Given the description of an element on the screen output the (x, y) to click on. 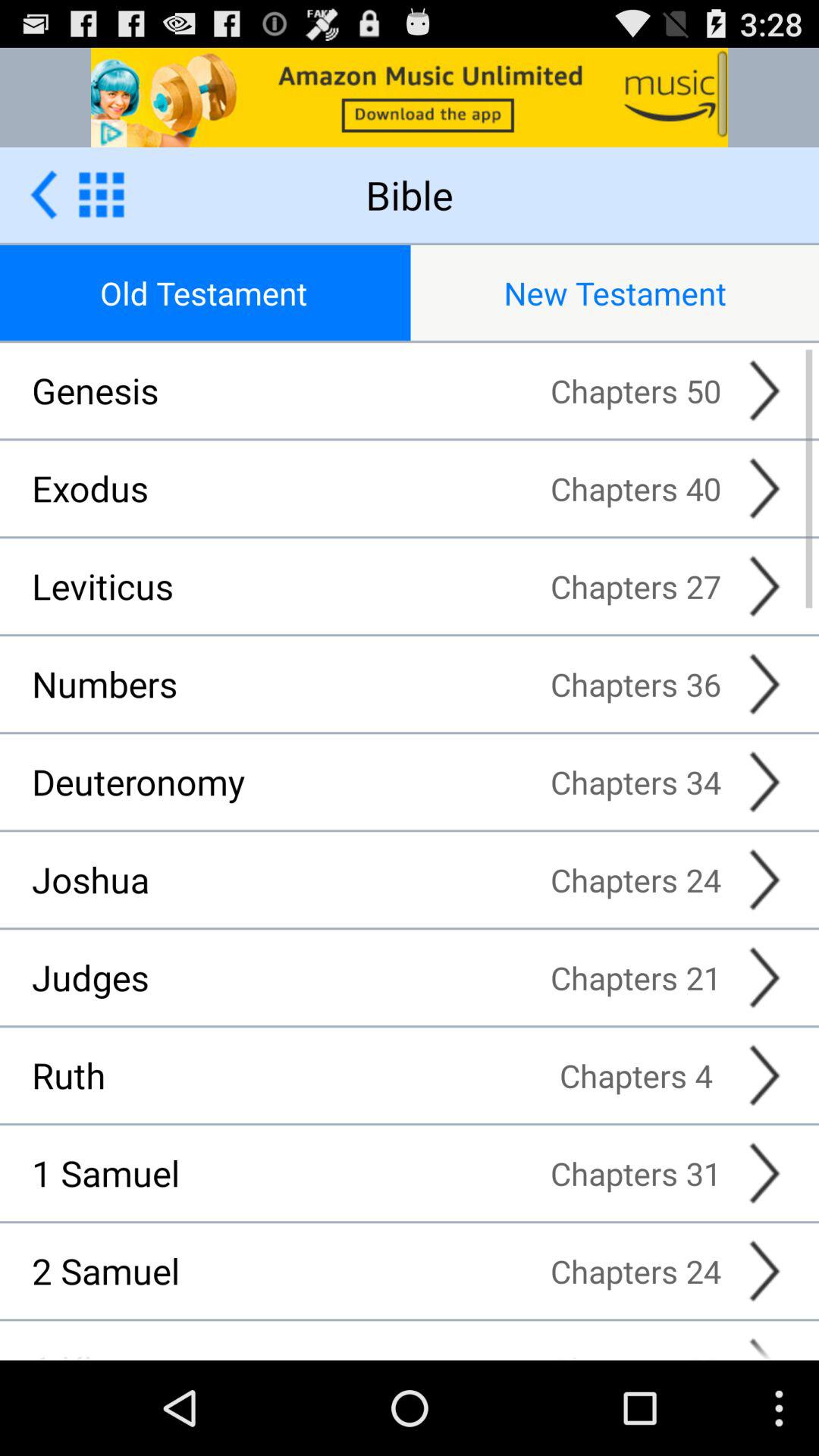
more option (101, 194)
